Given the description of an element on the screen output the (x, y) to click on. 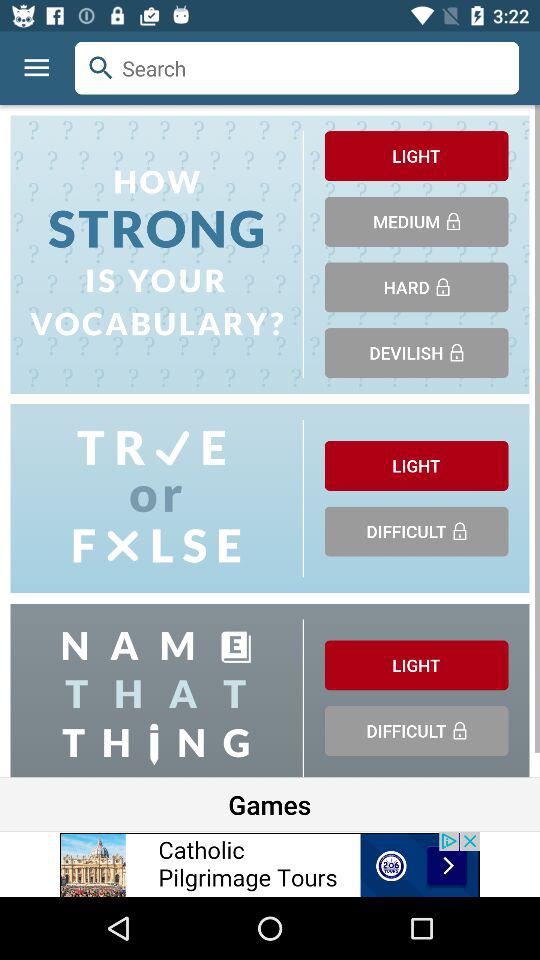
go to external advertisement (270, 864)
